Given the description of an element on the screen output the (x, y) to click on. 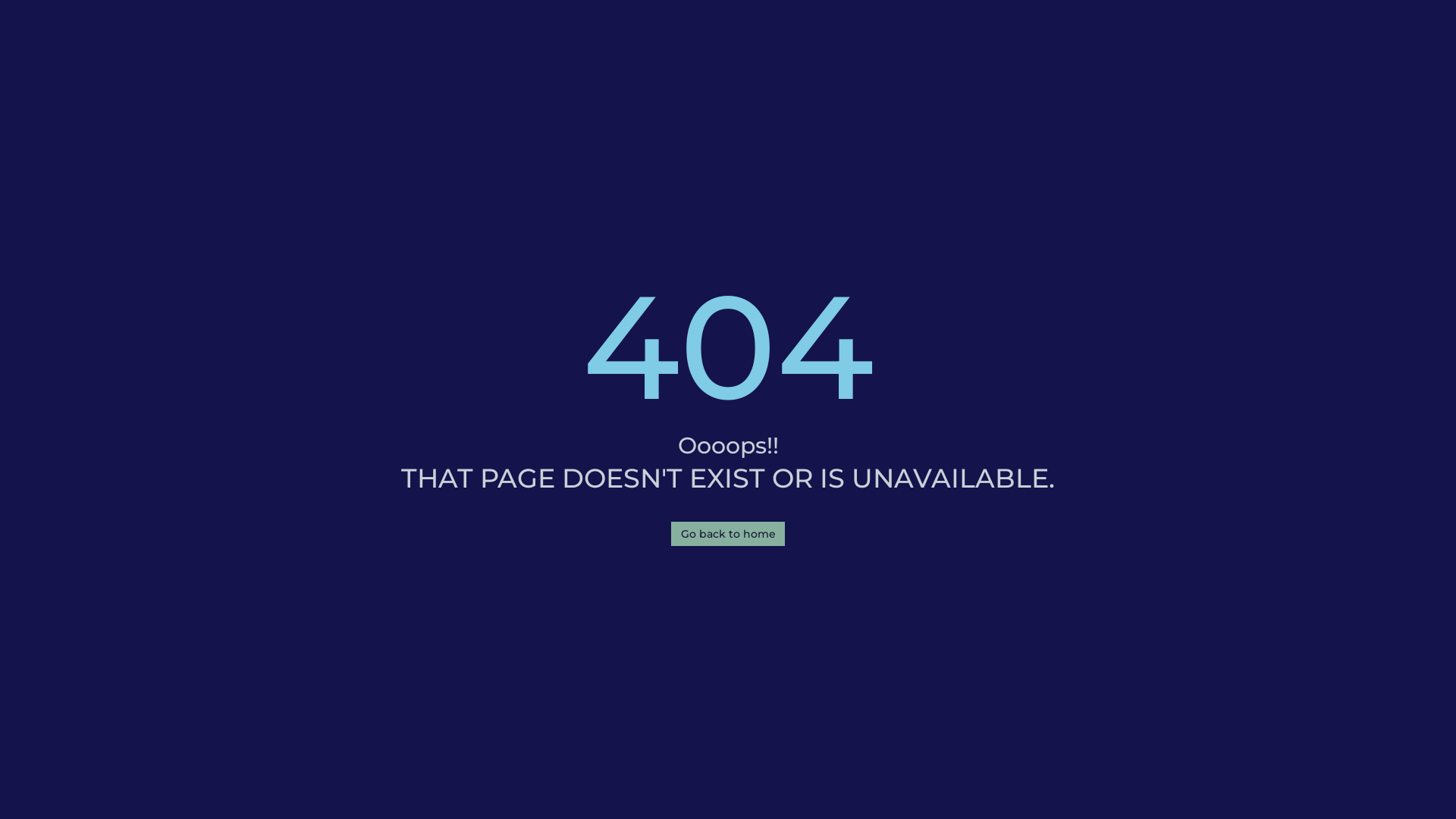
Go back to home Element type: text (727, 533)
